Given the description of an element on the screen output the (x, y) to click on. 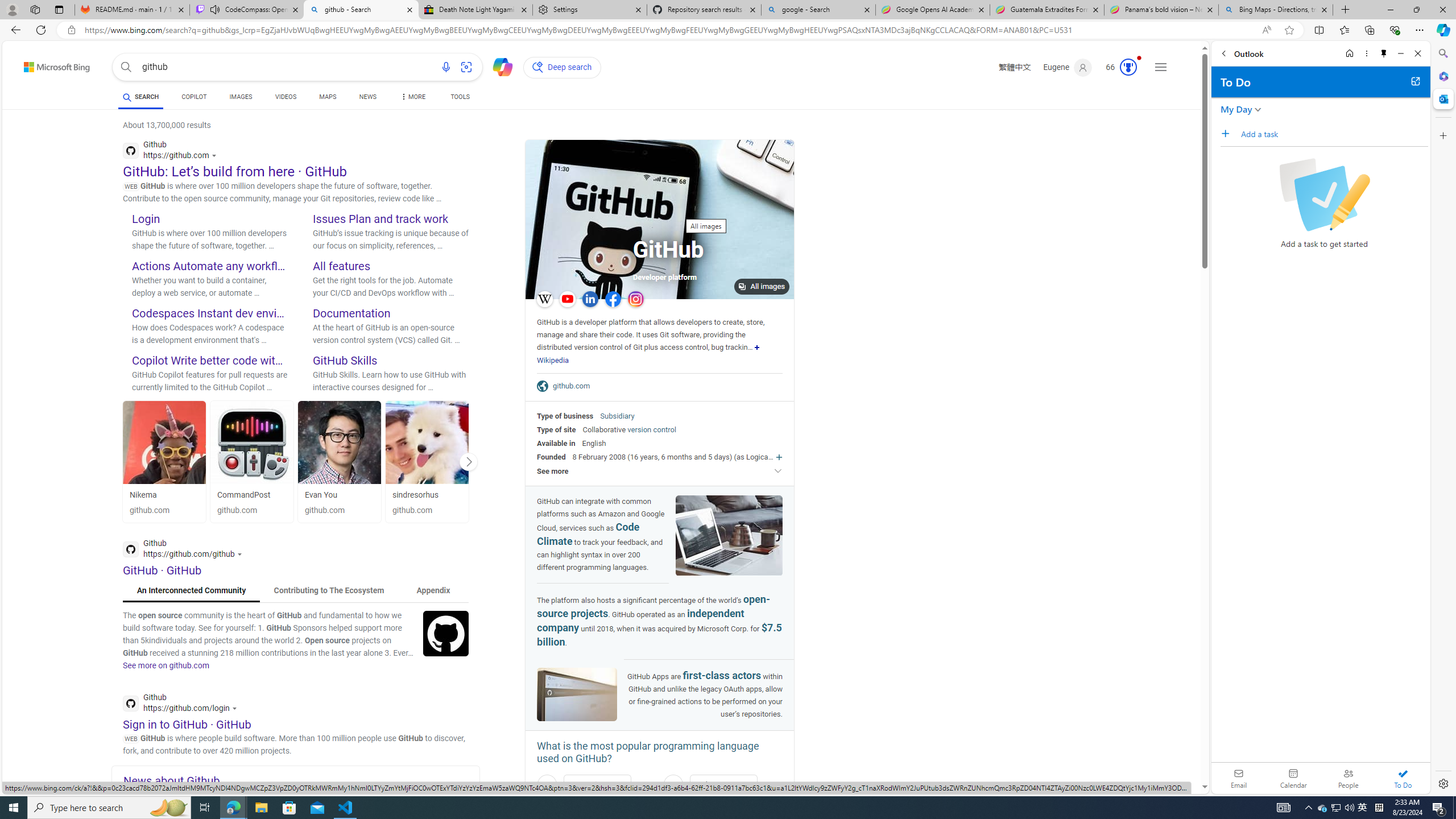
sindresorhus (415, 494)
Image of GitHub (577, 695)
Search more (1179, 753)
Github (182, 704)
Calendar. Date today is 22 (1293, 777)
AutomationID: rh_meter (1128, 66)
CommandPost (252, 442)
